Given the description of an element on the screen output the (x, y) to click on. 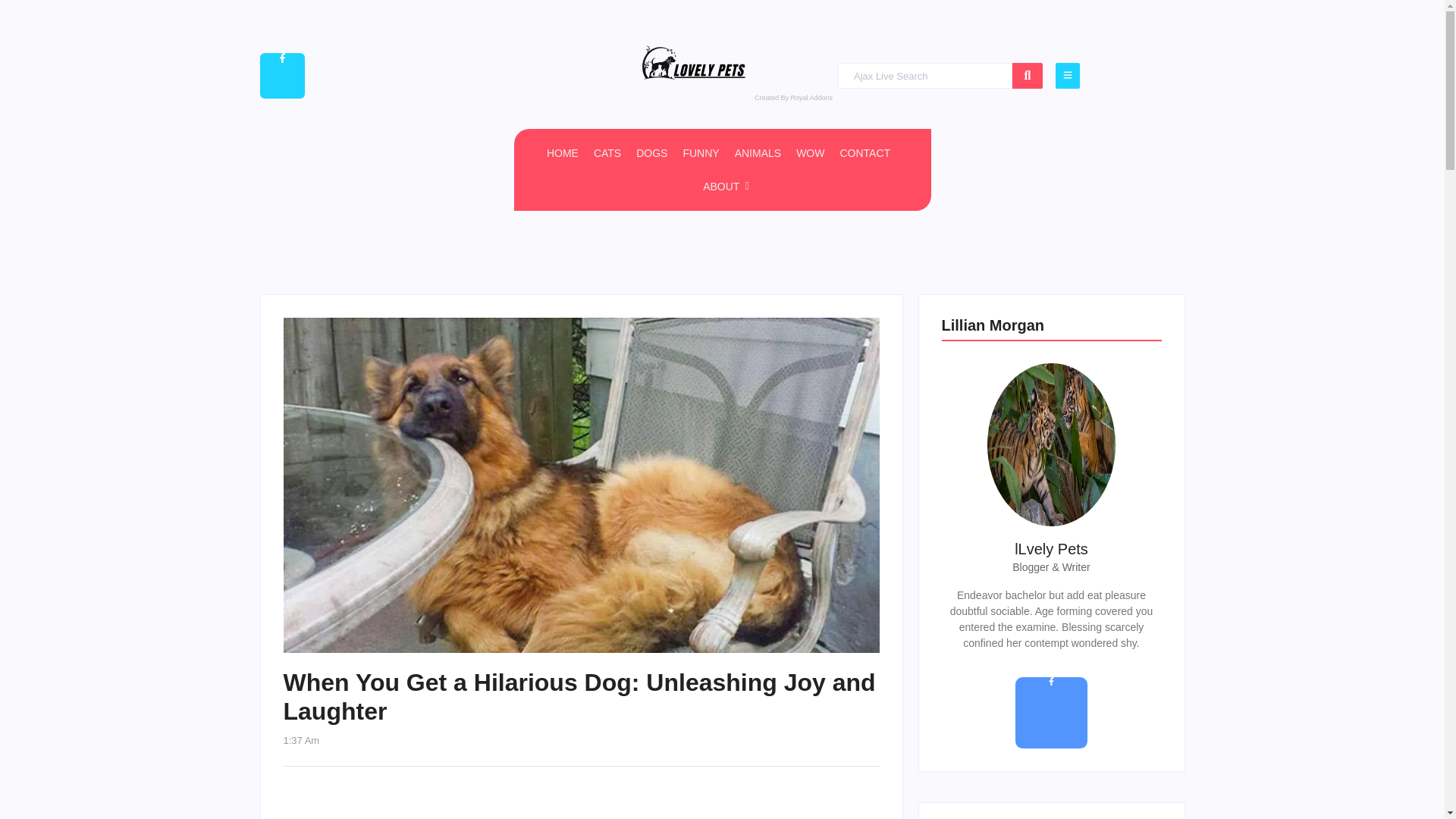
DOGS (651, 152)
FUNNY (700, 152)
CONTACT (864, 152)
ANIMALS (757, 152)
Search (924, 75)
HOME (562, 152)
ABOUT (726, 186)
